Given the description of an element on the screen output the (x, y) to click on. 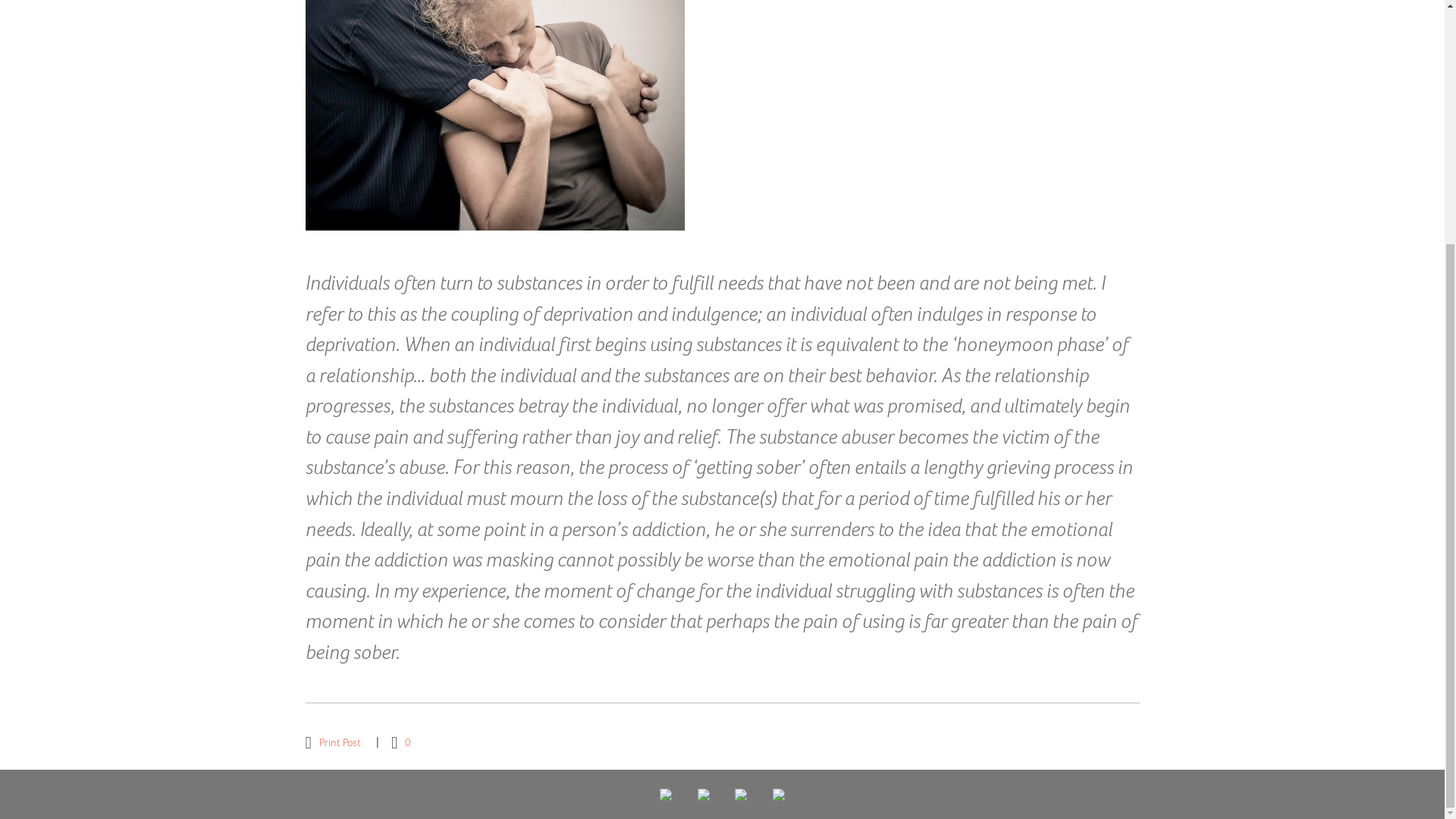
Like this (400, 742)
0 (400, 742)
Print Post (331, 742)
